Given the description of an element on the screen output the (x, y) to click on. 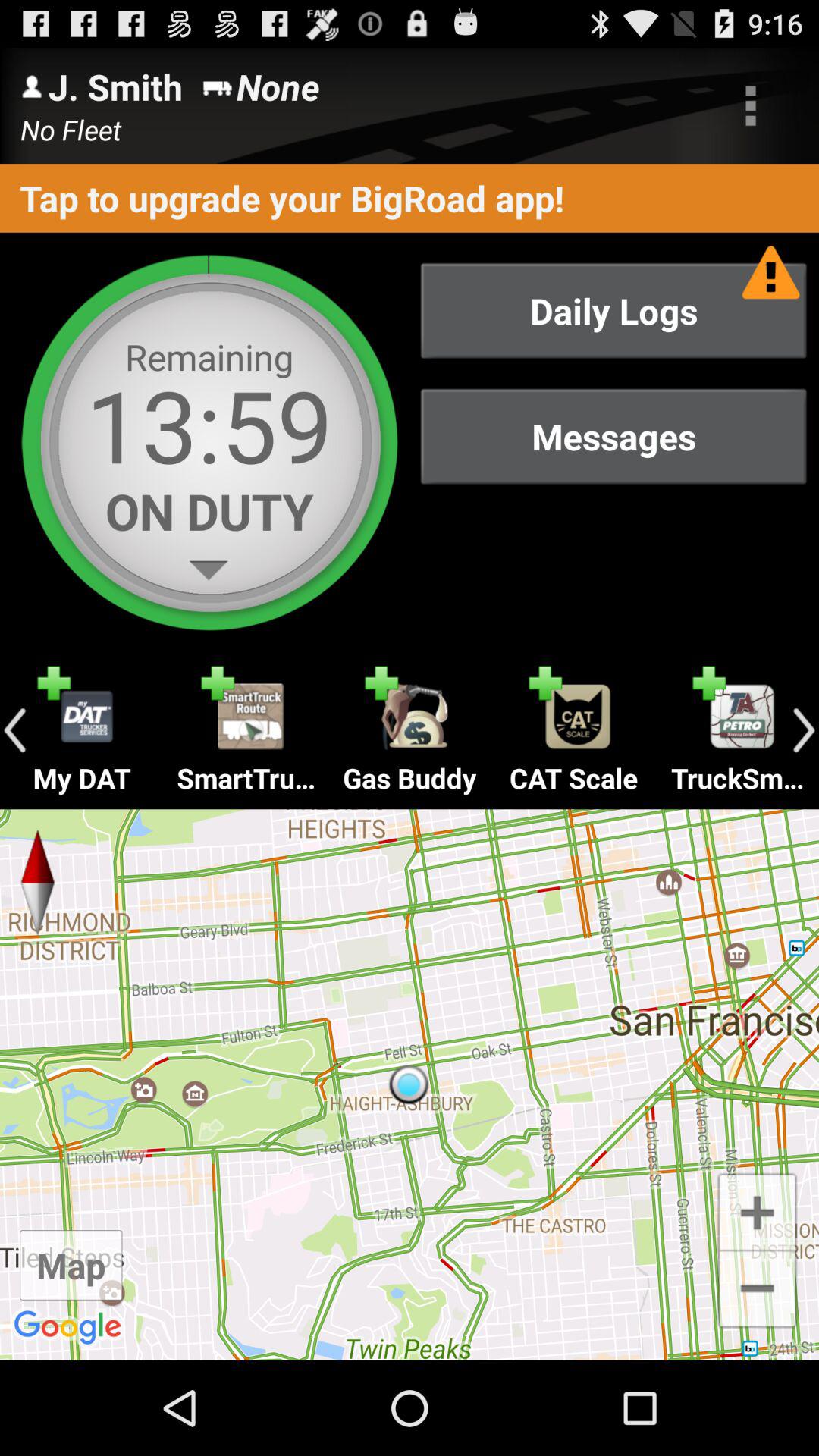
zoom out (757, 1290)
